Given the description of an element on the screen output the (x, y) to click on. 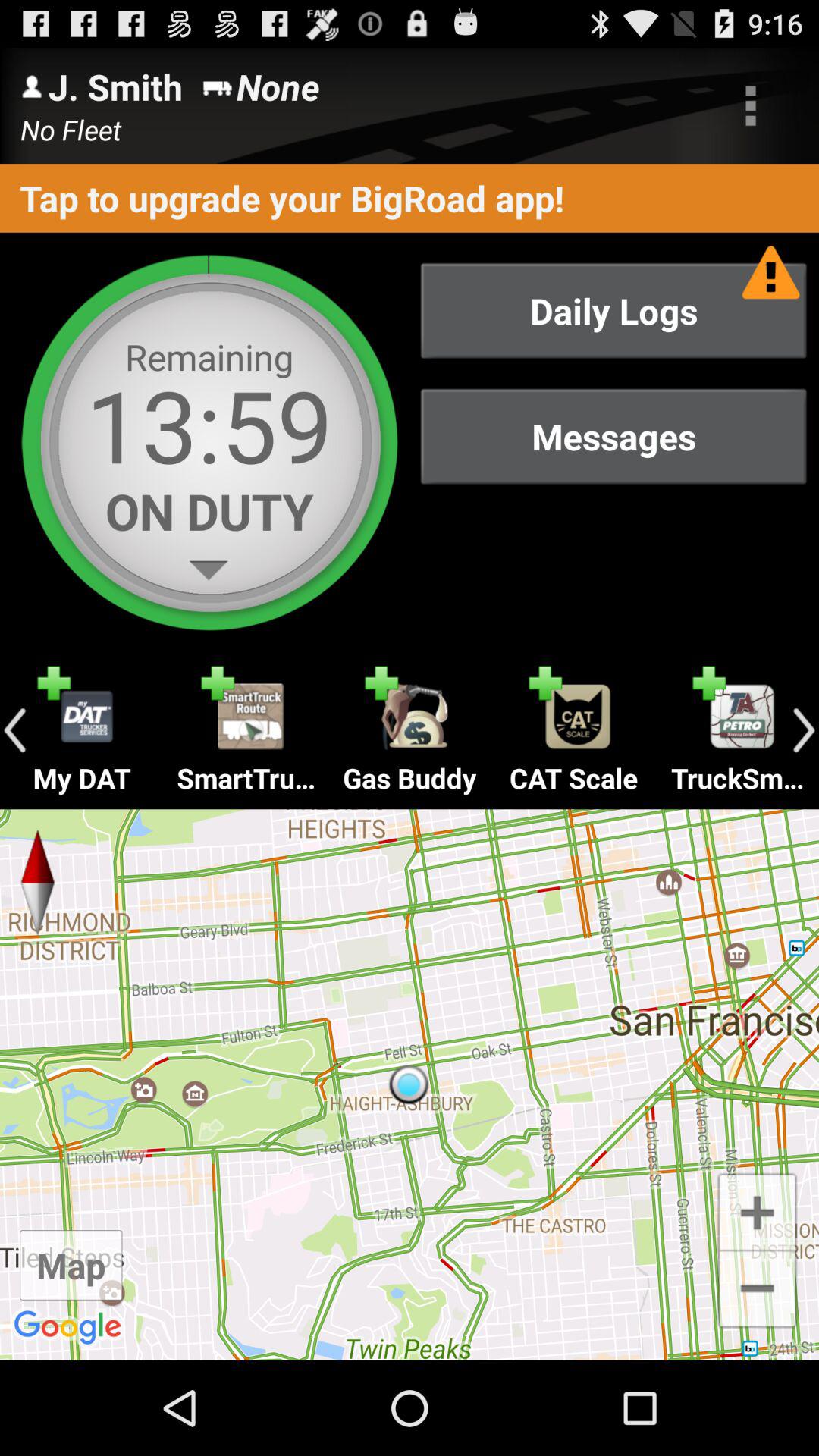
zoom out (757, 1290)
